Given the description of an element on the screen output the (x, y) to click on. 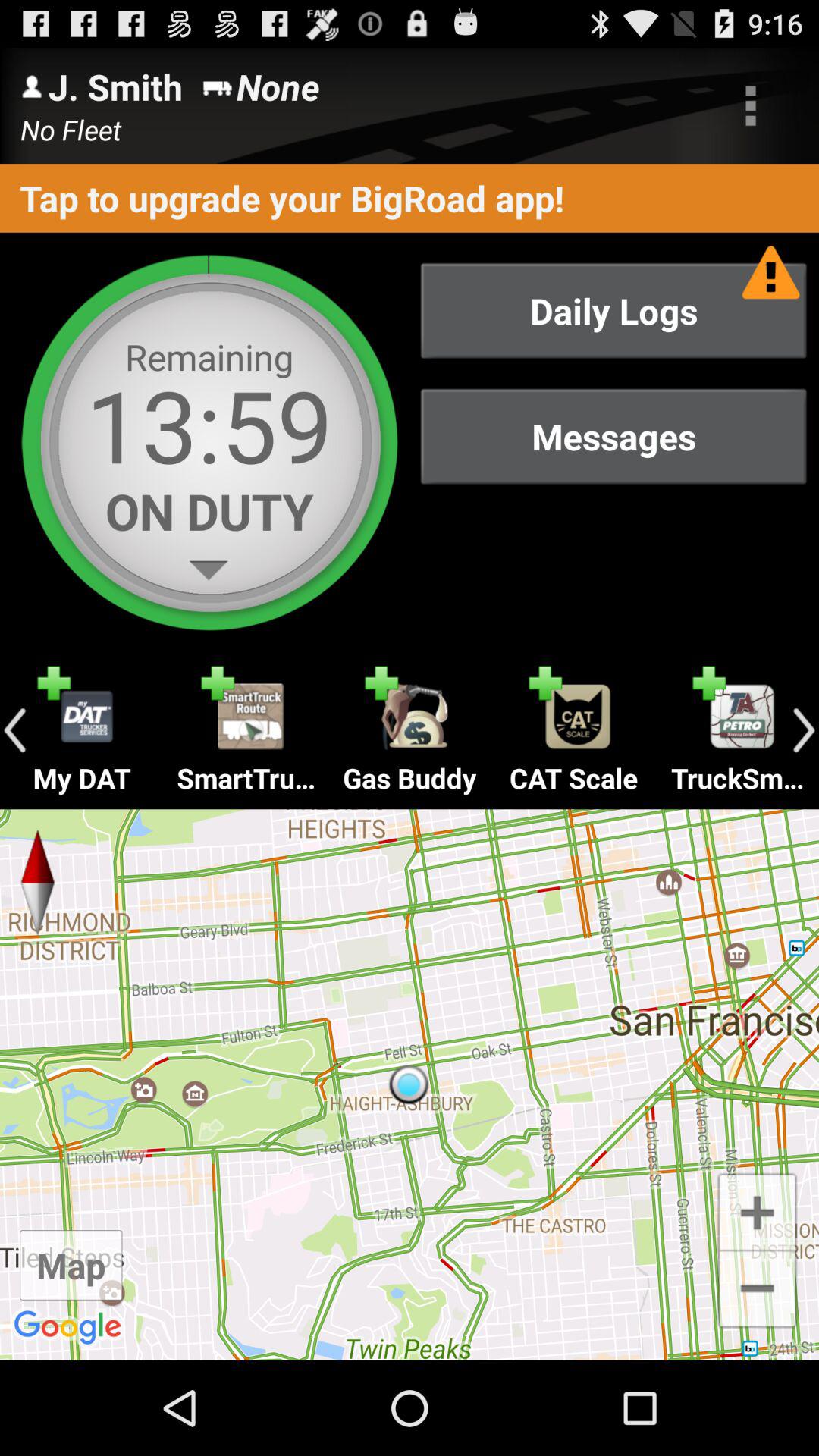
zoom out (757, 1290)
